Given the description of an element on the screen output the (x, y) to click on. 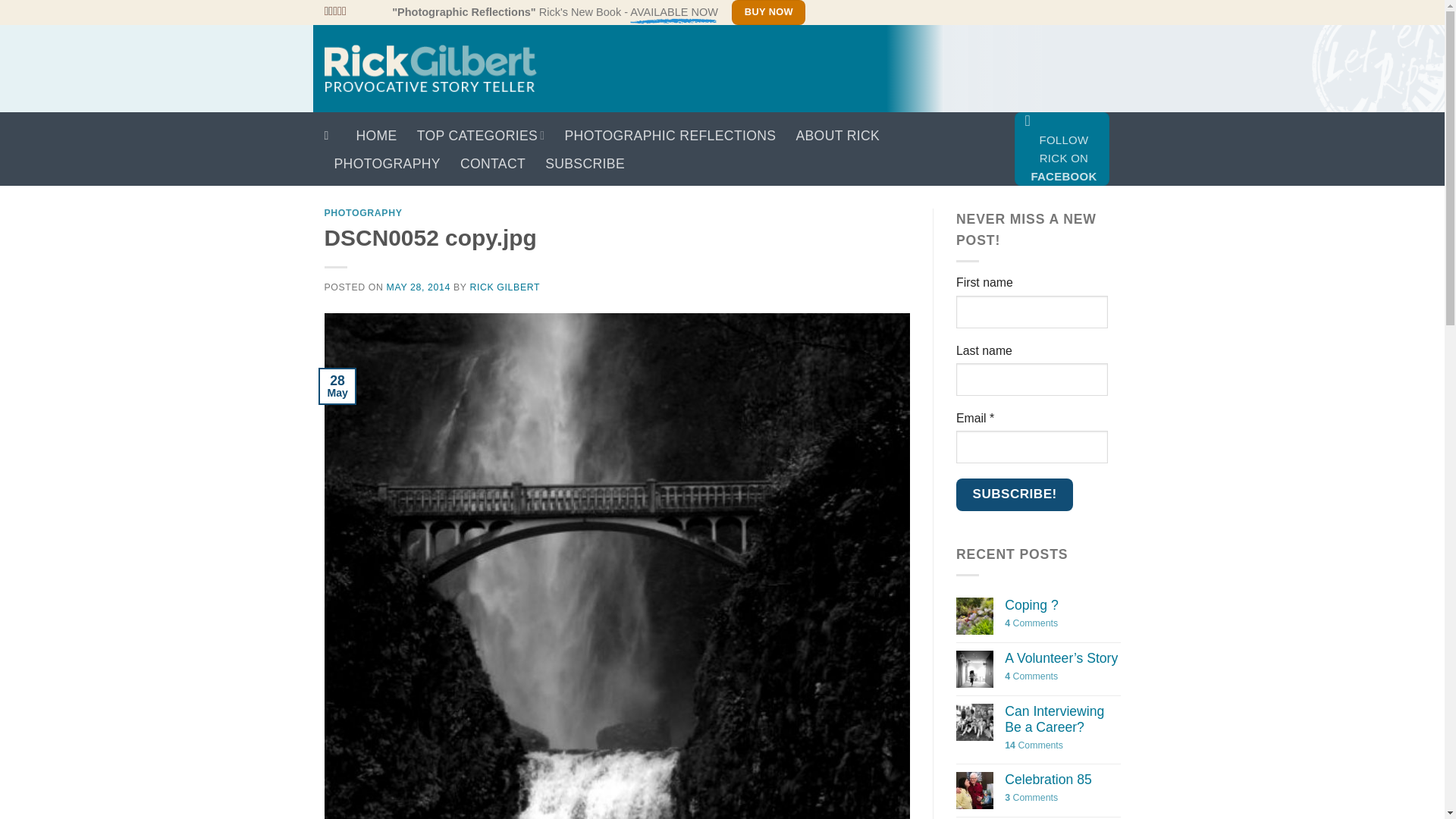
PHOTOGRAPHIC REFLECTIONS (670, 135)
Email (1032, 447)
ABOUT RICK (836, 135)
Rick Gilbert - Provocative Story Teller (430, 68)
TOP CATEGORIES (480, 134)
Celebration 85 (1061, 780)
Can Interviewing Be a Career? (1061, 720)
FOLLOW RICK ON FACEBOOK (1061, 149)
RICK GILBERT (504, 286)
Last name (1032, 379)
Subscribe! (1014, 494)
BUY NOW (768, 12)
Coping ? (1061, 605)
PHOTOGRAPHY (386, 163)
CONTACT (492, 163)
